Given the description of an element on the screen output the (x, y) to click on. 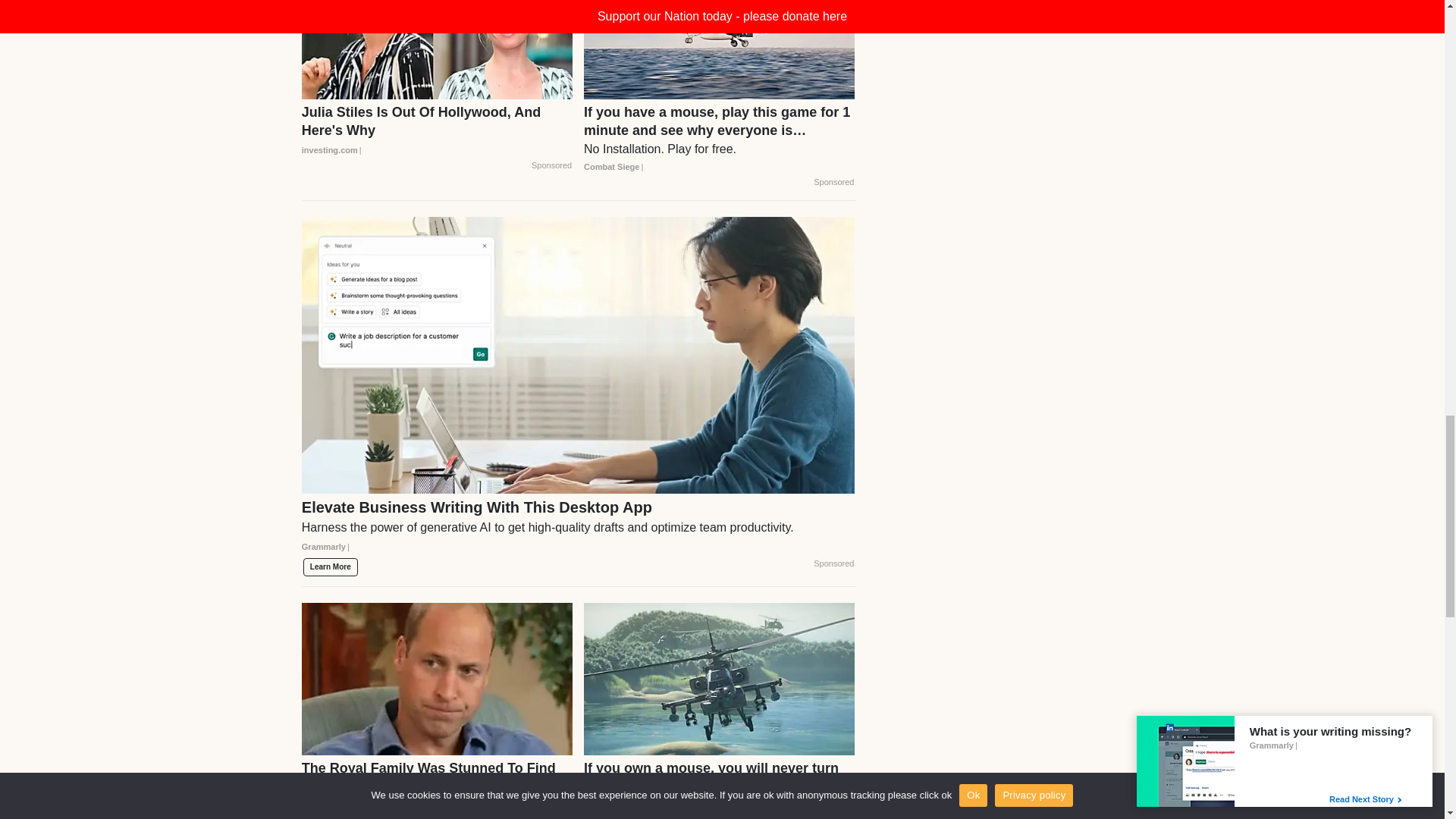
Sponsored (551, 165)
Sponsored (833, 182)
Elevate Business Writing With This Desktop App (578, 532)
Julia Stiles Is Out Of Hollywood, And Here's Why (436, 130)
